Given the description of an element on the screen output the (x, y) to click on. 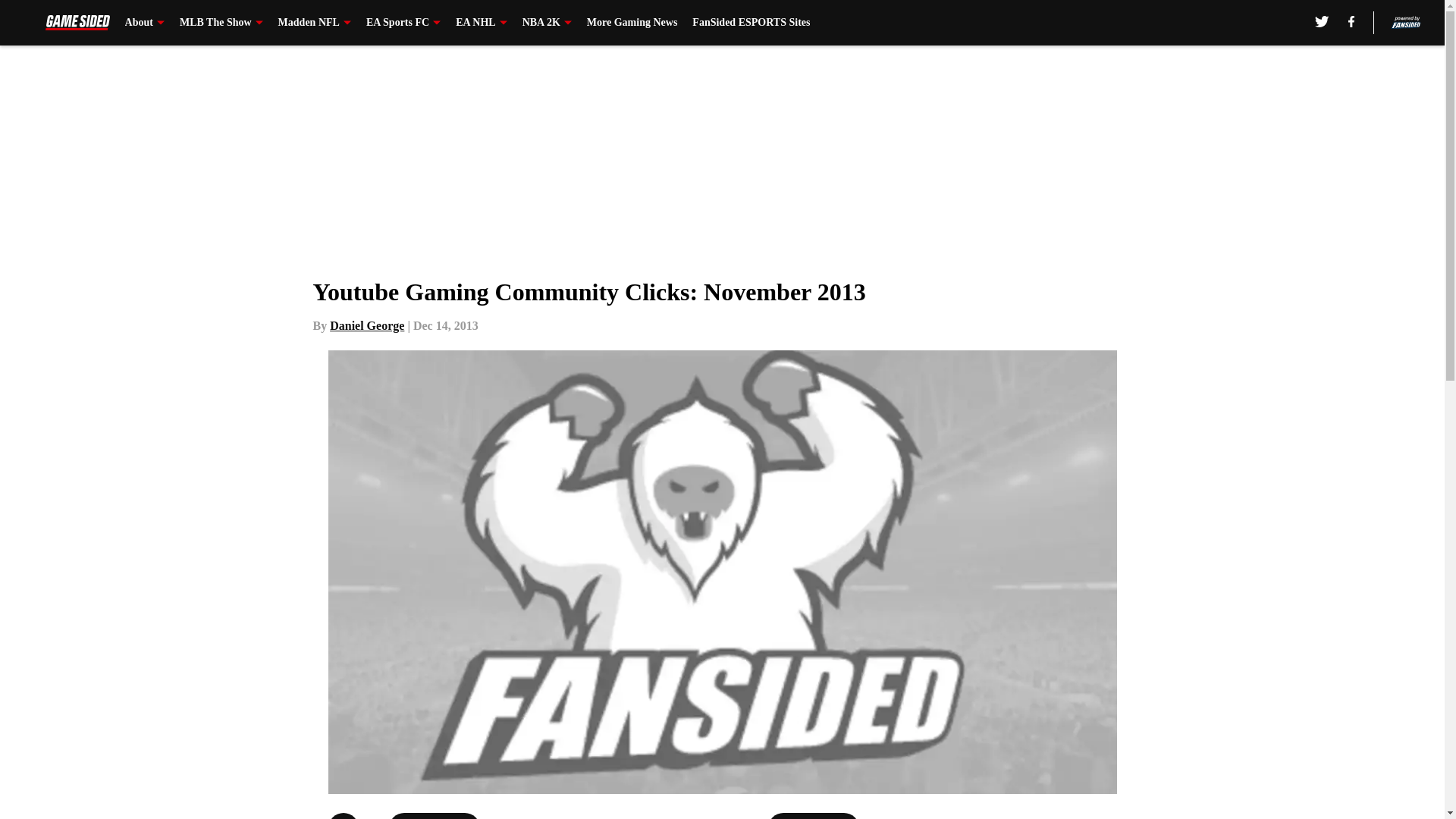
FanSided ESPORTS Sites (751, 22)
More Gaming News (632, 22)
Next (813, 816)
Prev (433, 816)
Daniel George (367, 325)
